Given the description of an element on the screen output the (x, y) to click on. 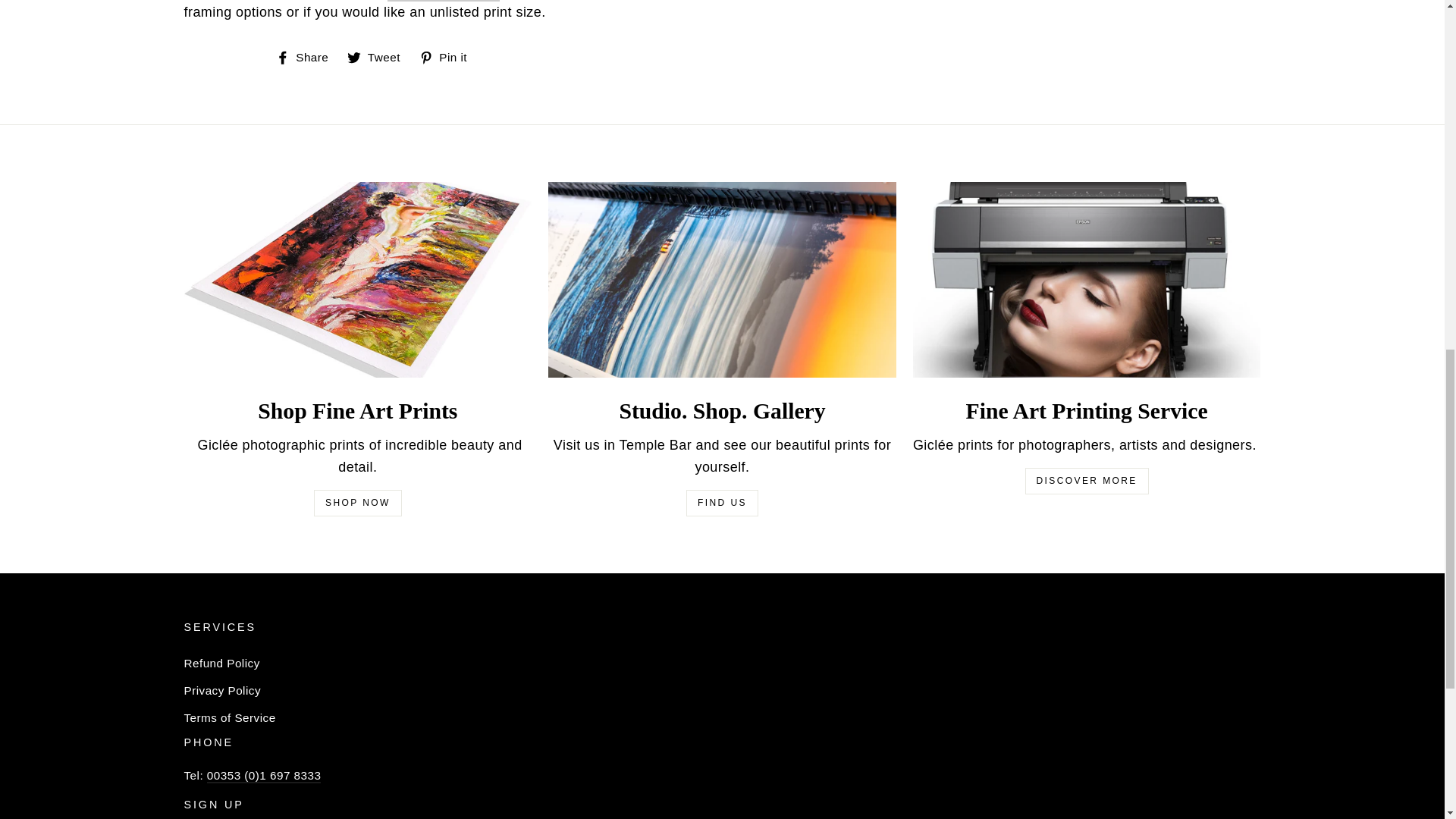
Tweet on Twitter (379, 56)
Pin on Pinterest (449, 56)
tel:00353862267736 (263, 775)
Share on Facebook (308, 56)
